Given the description of an element on the screen output the (x, y) to click on. 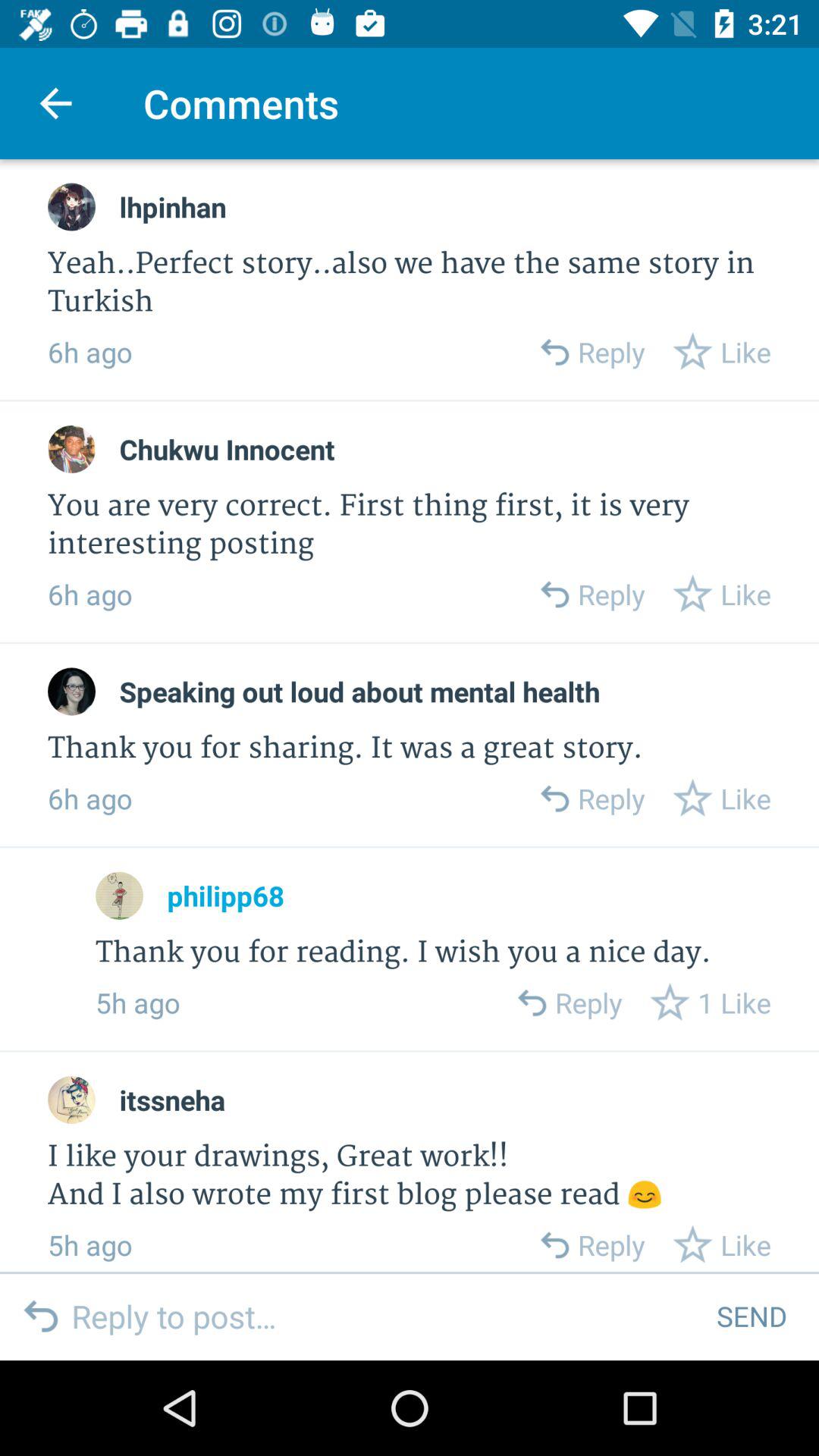
reply (553, 351)
